Given the description of an element on the screen output the (x, y) to click on. 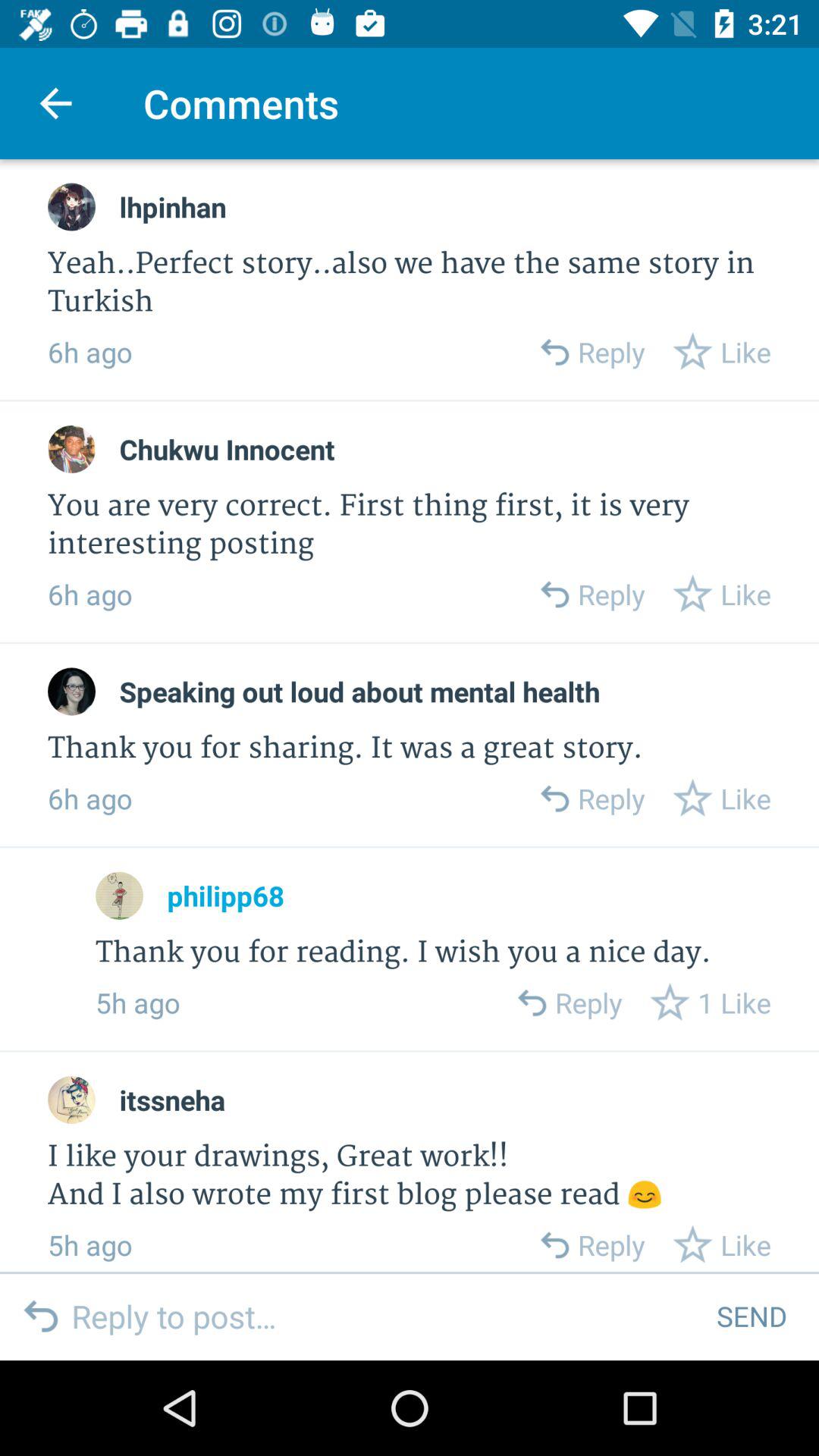
reply (553, 351)
